Given the description of an element on the screen output the (x, y) to click on. 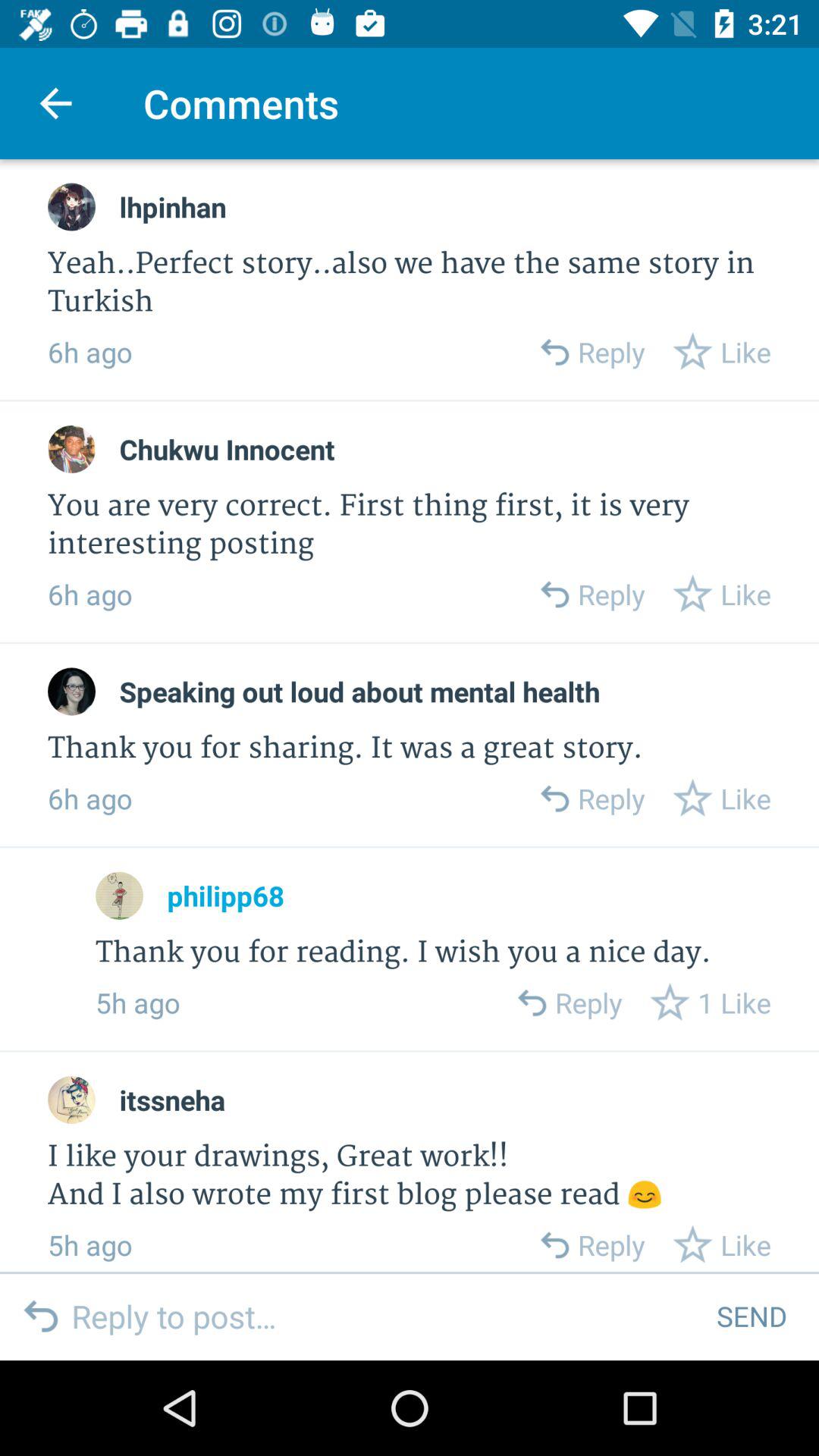
reply (553, 351)
